Given the description of an element on the screen output the (x, y) to click on. 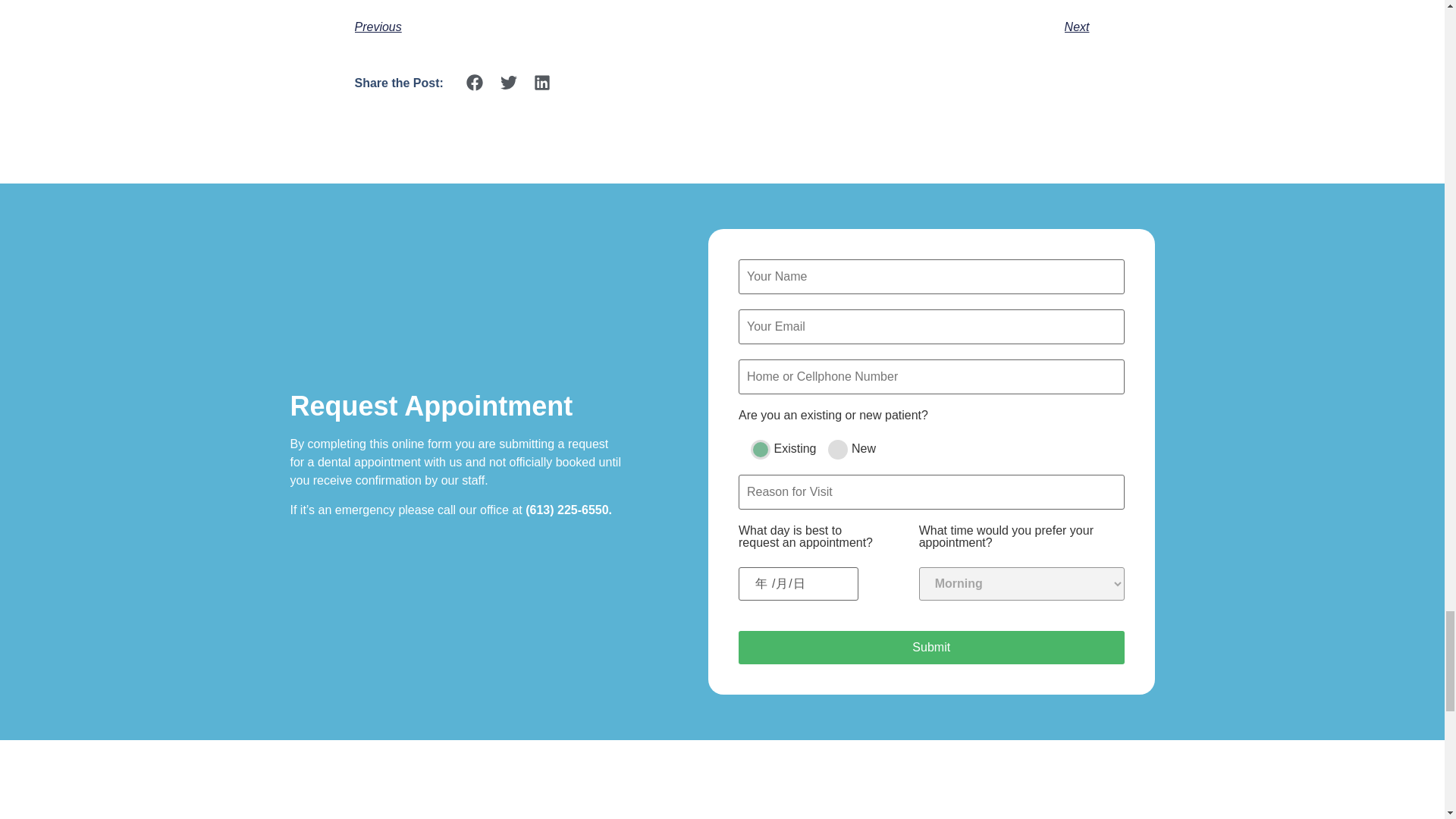
Existing (760, 449)
Submit (931, 647)
Previous (538, 27)
Next (905, 27)
New (837, 449)
Submit (931, 647)
Serene Yu PC ottawa (938, 809)
